Given the description of an element on the screen output the (x, y) to click on. 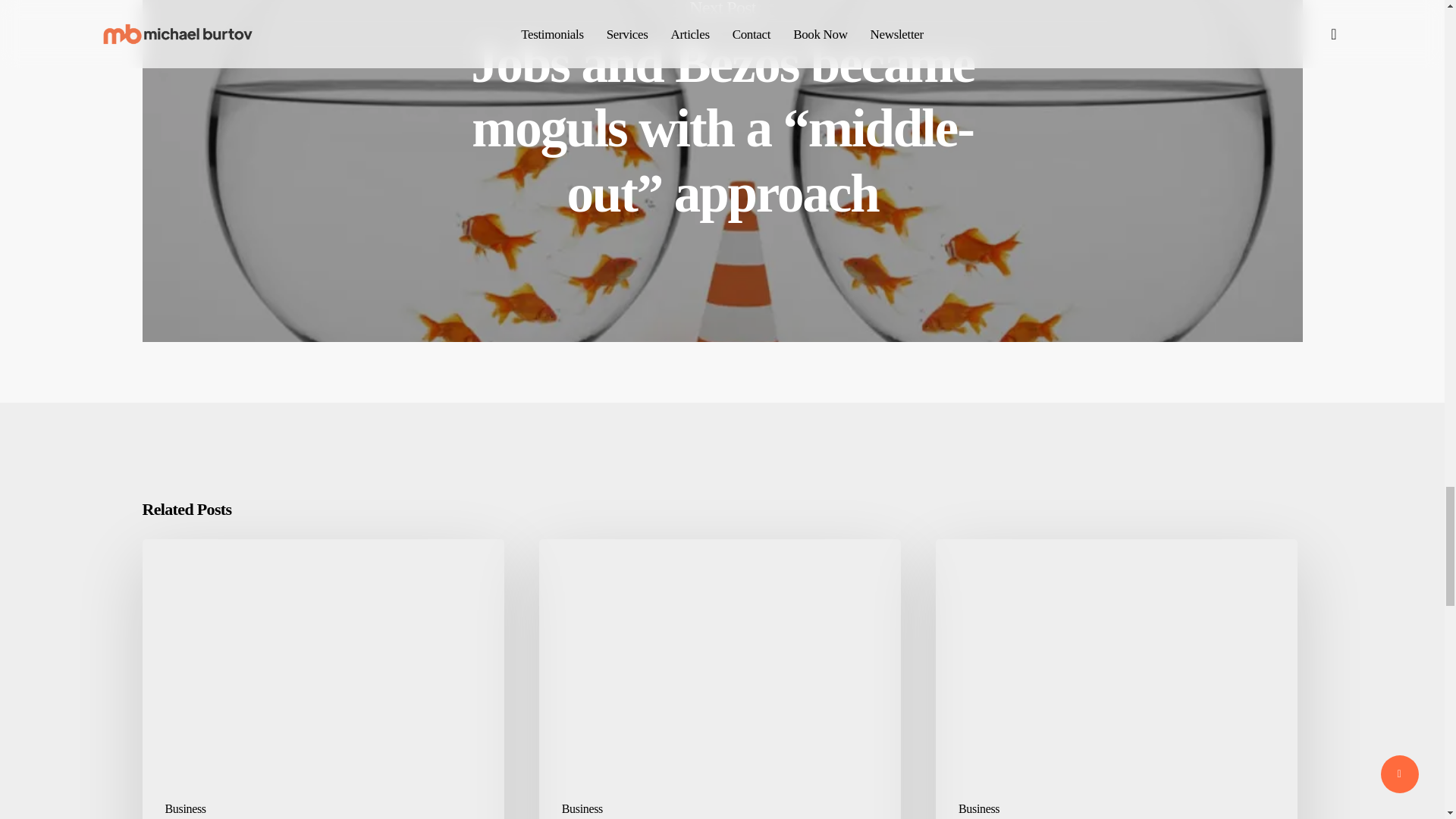
Business (978, 809)
Business (582, 809)
Business (185, 809)
